Given the description of an element on the screen output the (x, y) to click on. 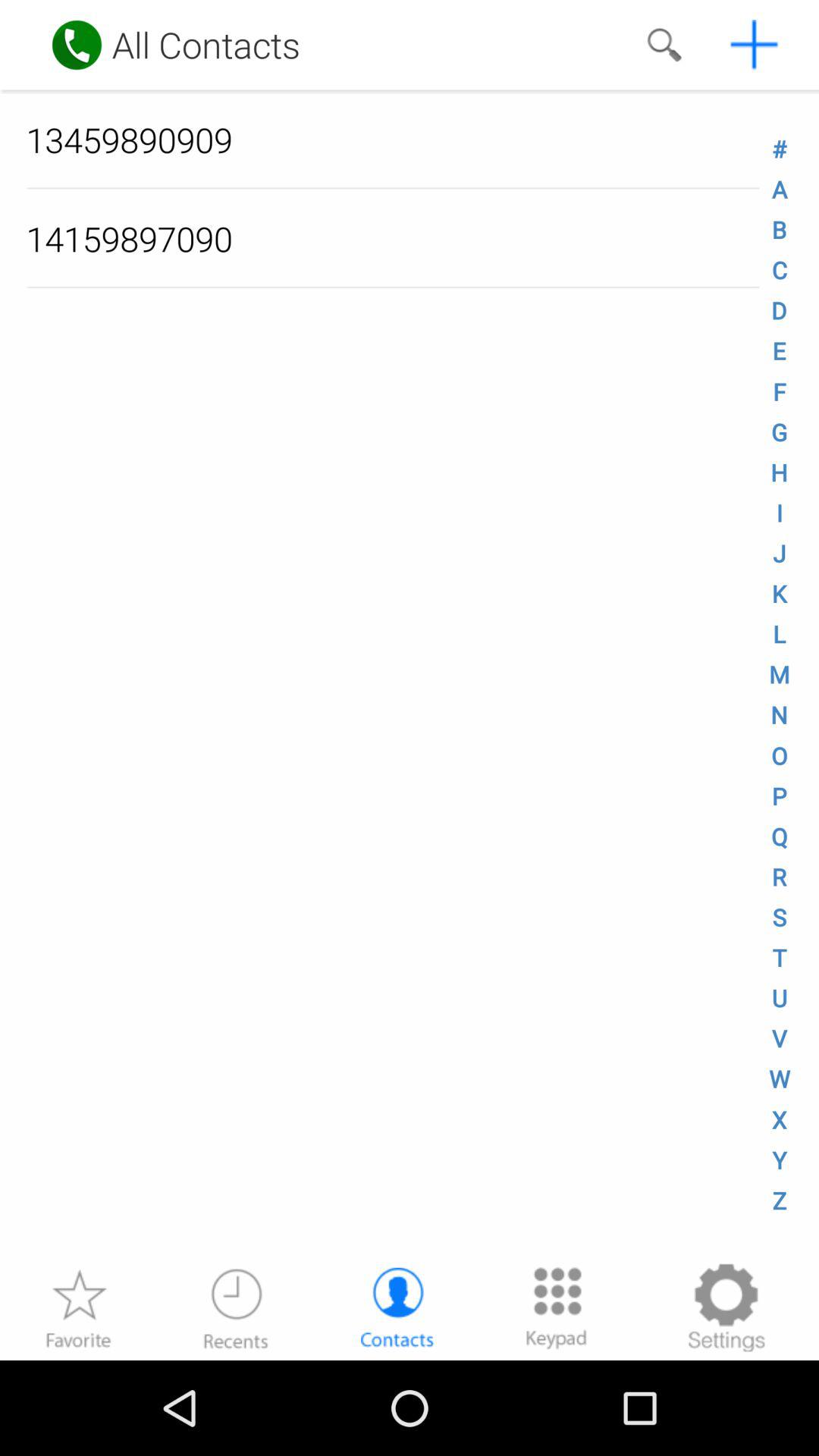
search for a number (664, 44)
